Given the description of an element on the screen output the (x, y) to click on. 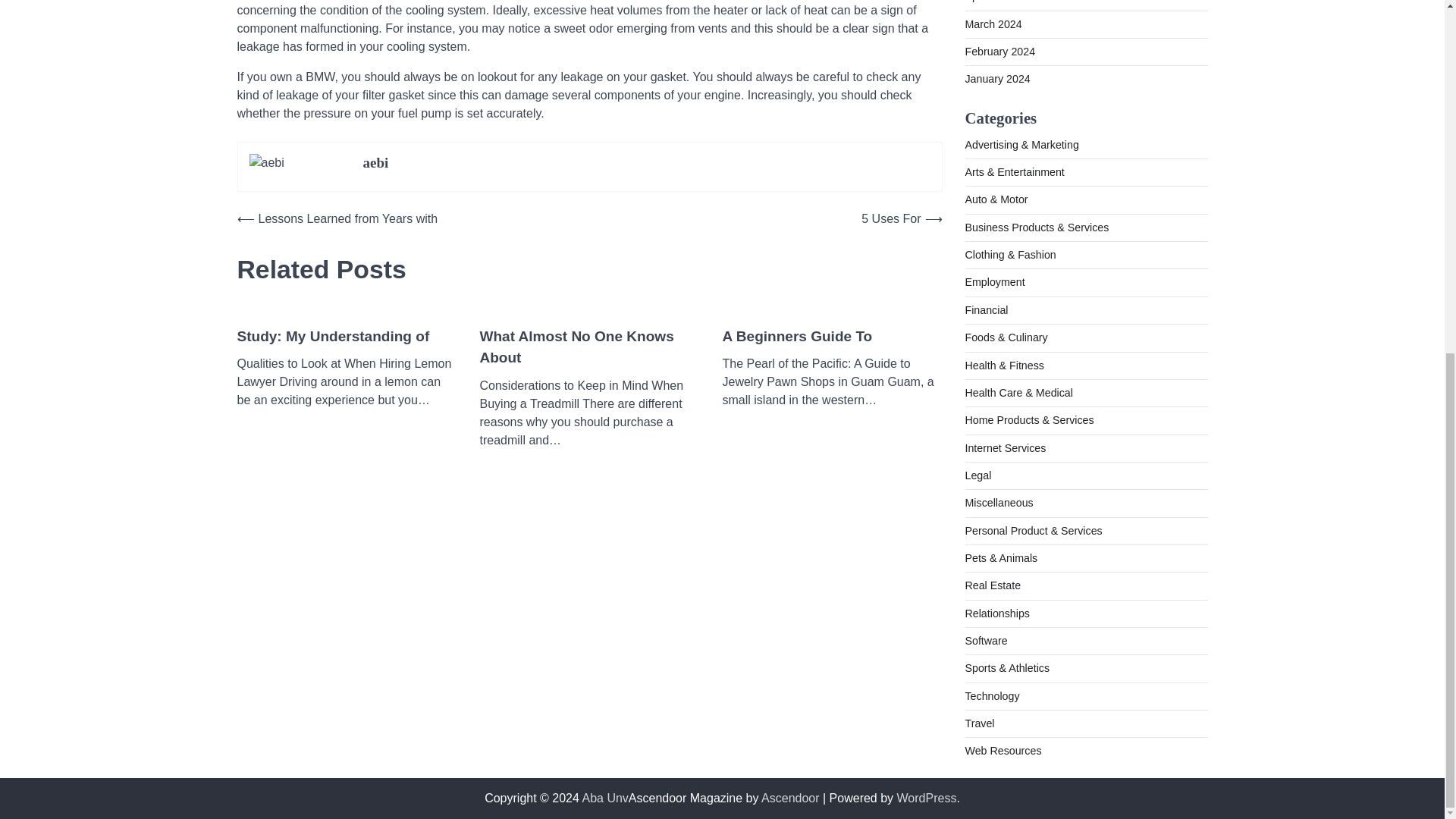
April 2024 (988, 1)
March 2024 (992, 24)
Internet Services (1004, 448)
Study: My Understanding of (332, 336)
A Beginners Guide To (797, 336)
What Almost No One Knows About (588, 347)
Employment (994, 282)
January 2024 (996, 78)
February 2024 (999, 51)
Financial (985, 309)
